Given the description of an element on the screen output the (x, y) to click on. 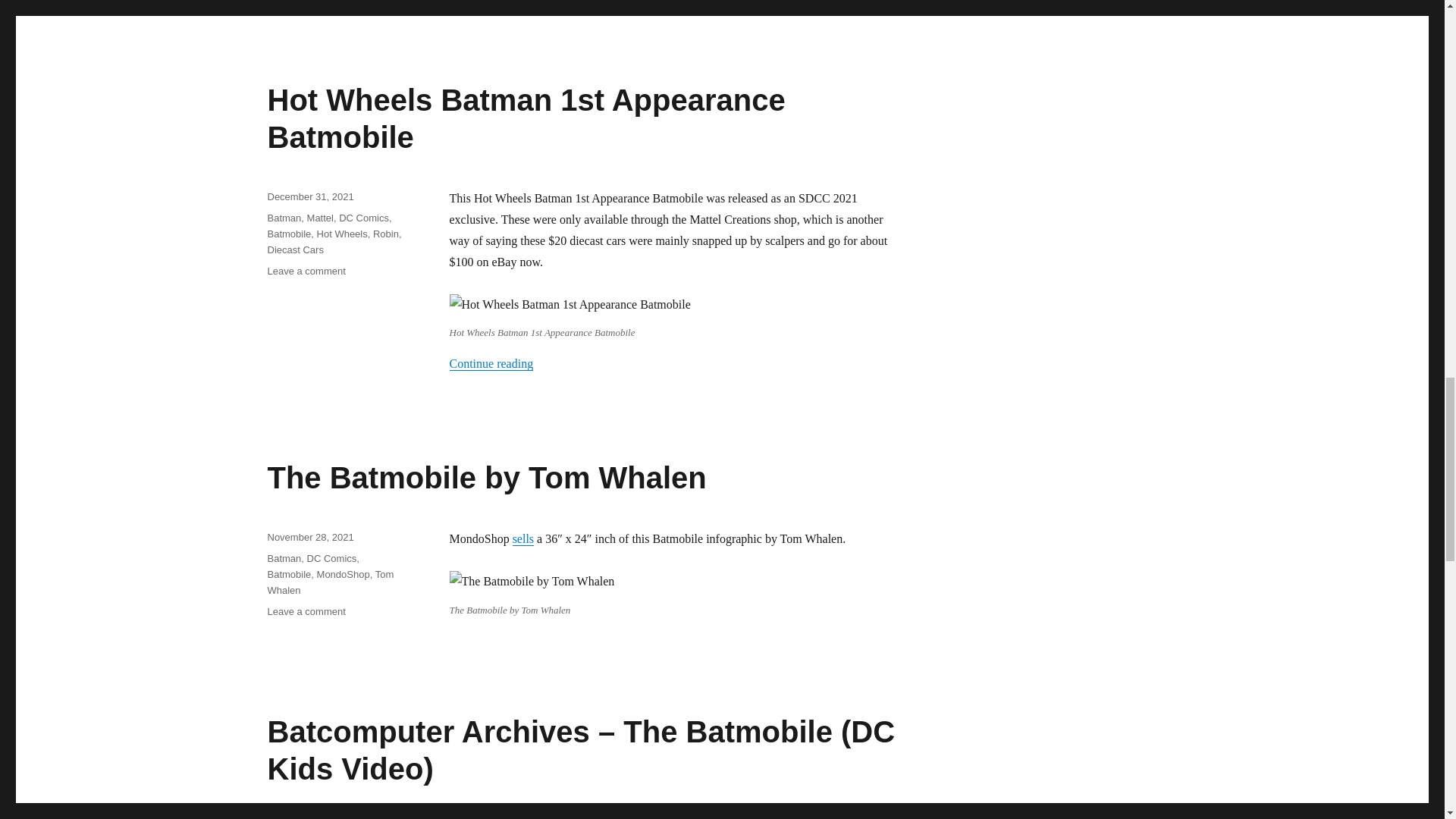
Batman (283, 217)
Mattel (320, 217)
December 31, 2021 (309, 196)
Hot Wheels Batman 1st Appearance Batmobile (525, 118)
